Given the description of an element on the screen output the (x, y) to click on. 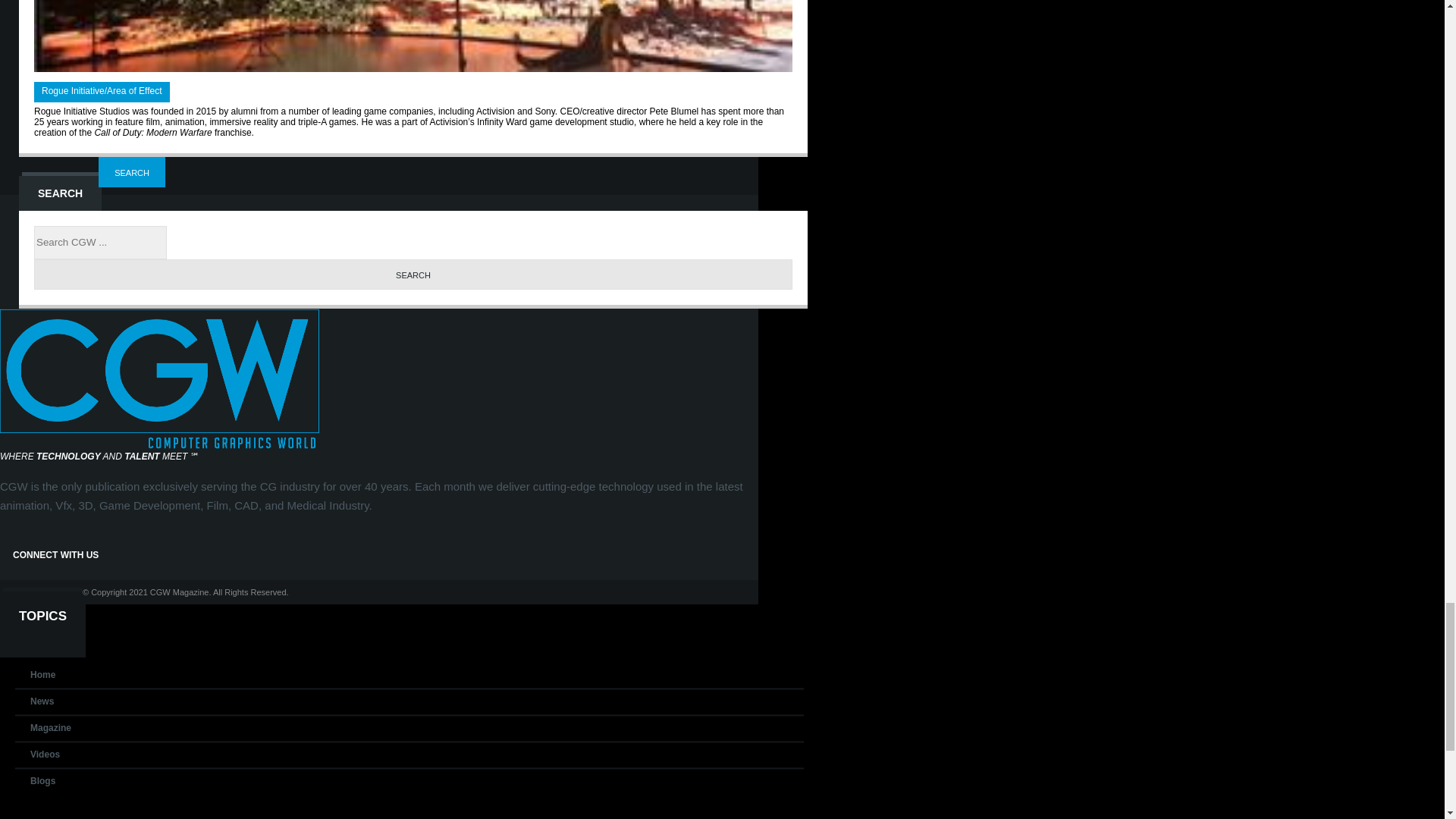
Search (132, 172)
Search (412, 274)
